Given the description of an element on the screen output the (x, y) to click on. 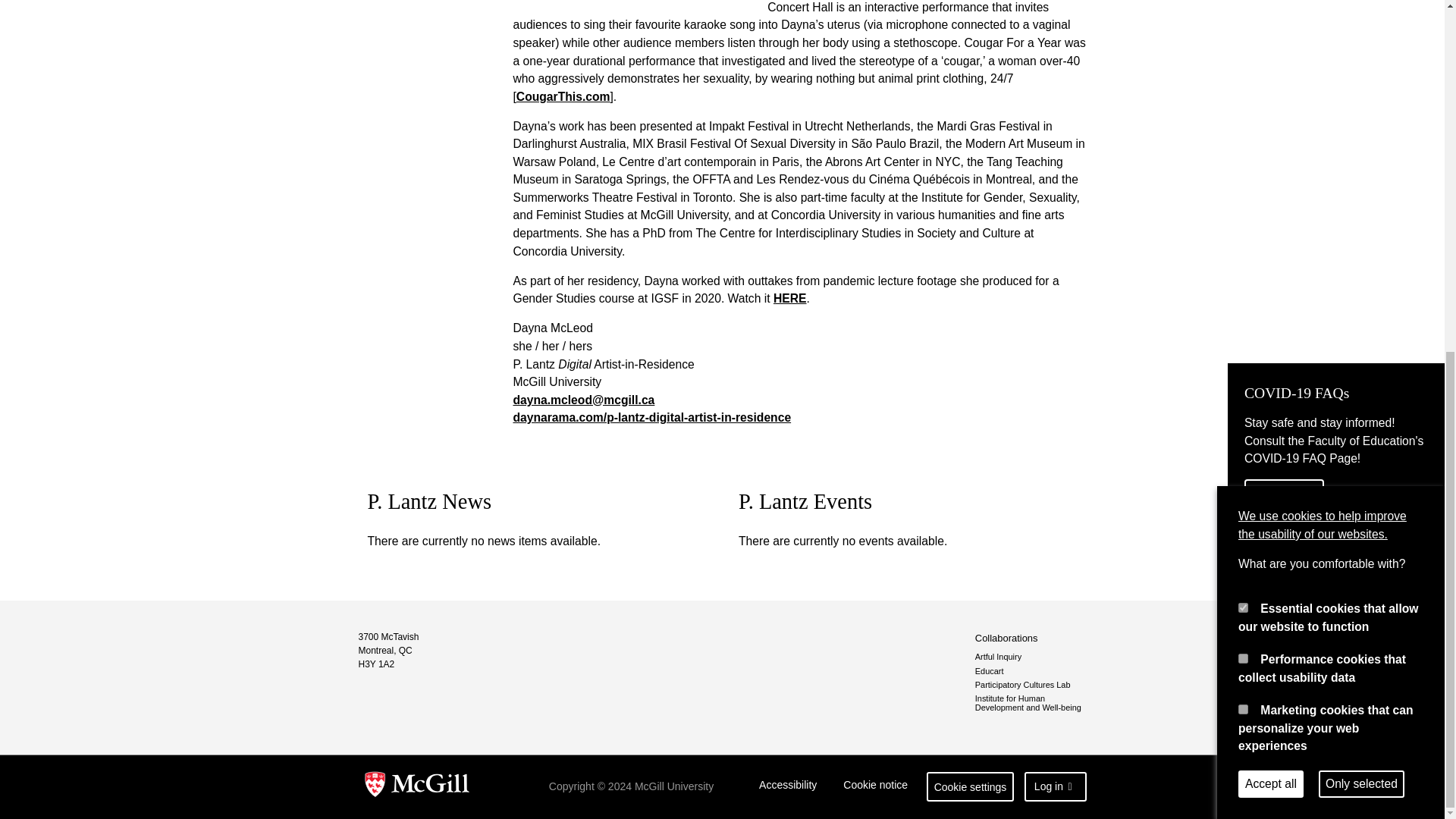
marketing (1243, 96)
Participatory Cultures Lab (1030, 684)
HERE (789, 297)
Accessibility (788, 786)
performance (1243, 45)
Accessibility (788, 786)
Accept all (1271, 171)
CougarThis.com (563, 96)
Cookie notice (875, 786)
Artful Inquiry (1030, 655)
Educart (1030, 670)
Log in (1055, 786)
Institute for Human Development and Well-being (1030, 702)
return to McGill University (417, 786)
Collaborations (1030, 638)
